Given the description of an element on the screen output the (x, y) to click on. 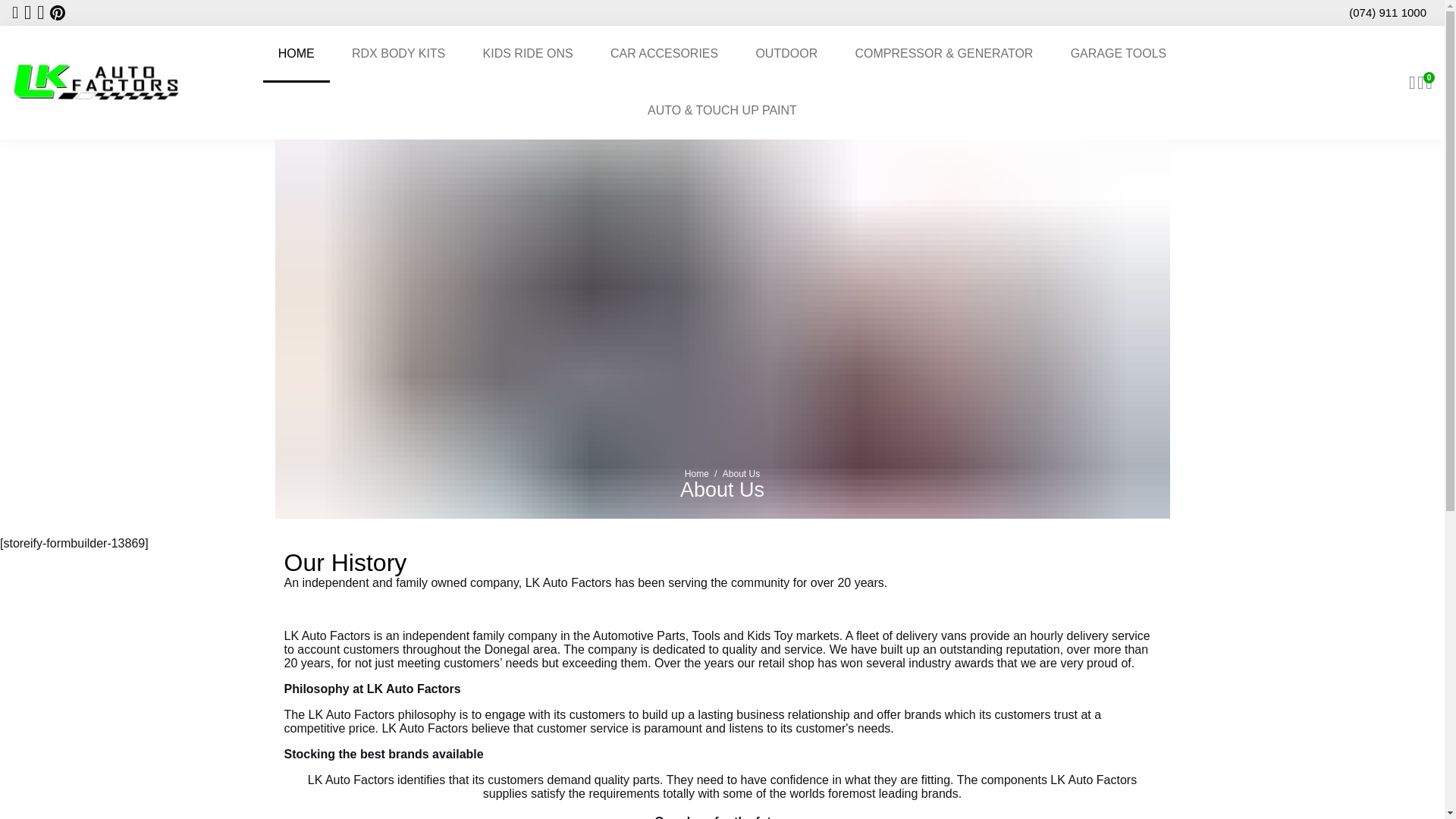
HOME (296, 53)
OUTDOOR (785, 53)
KIDS RIDE ONS (527, 53)
Home (696, 473)
GARAGE TOOLS (1118, 53)
RDX BODY KITS (398, 53)
CAR ACCESORIES (664, 53)
